Given the description of an element on the screen output the (x, y) to click on. 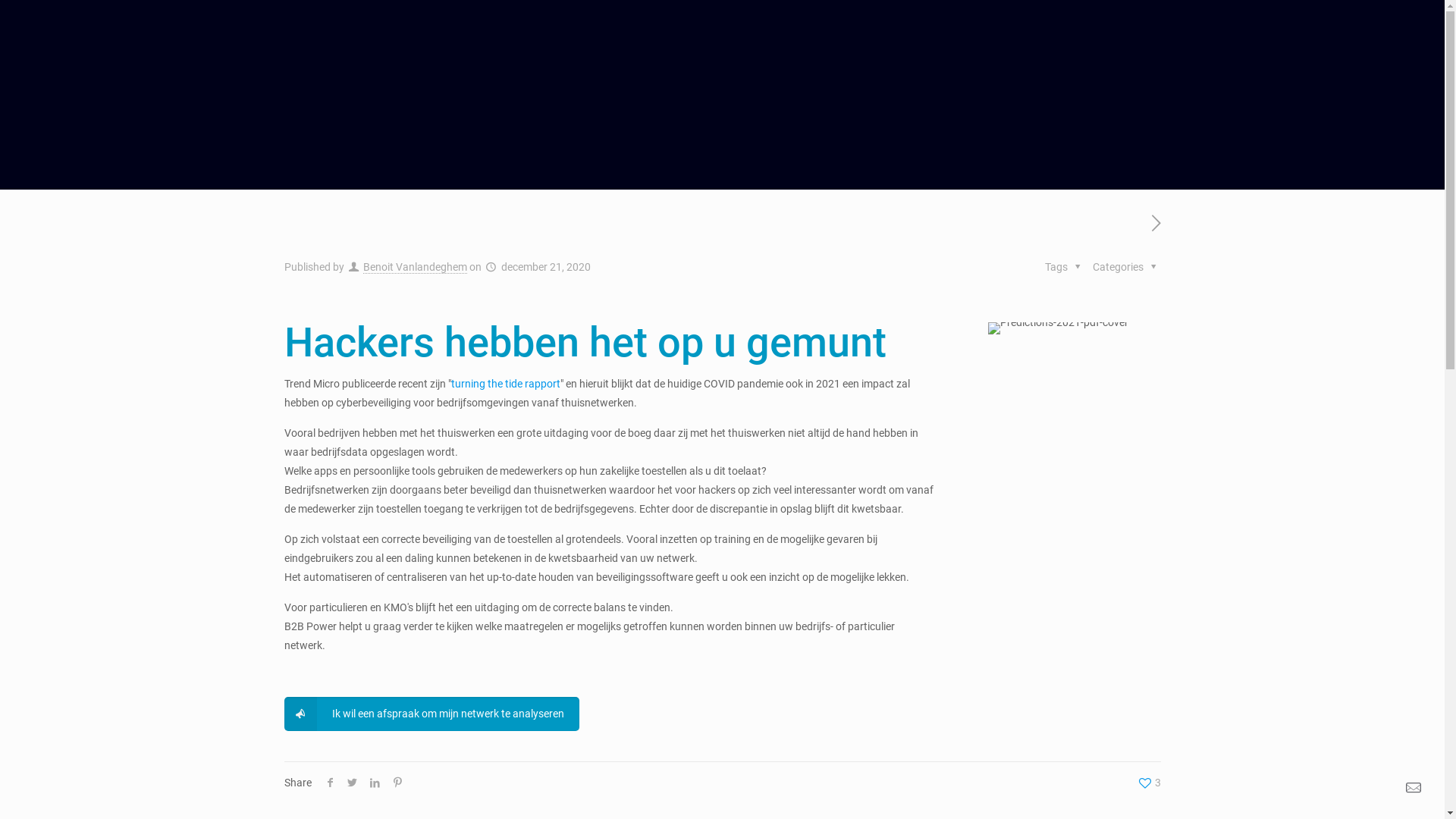
3 Element type: text (1147, 782)
Benoit Vanlandeghem Element type: text (415, 266)
Ik wil een afspraak om mijn netwerk te analyseren Element type: text (431, 713)
turning the tide rapport Element type: text (504, 383)
